Given the description of an element on the screen output the (x, y) to click on. 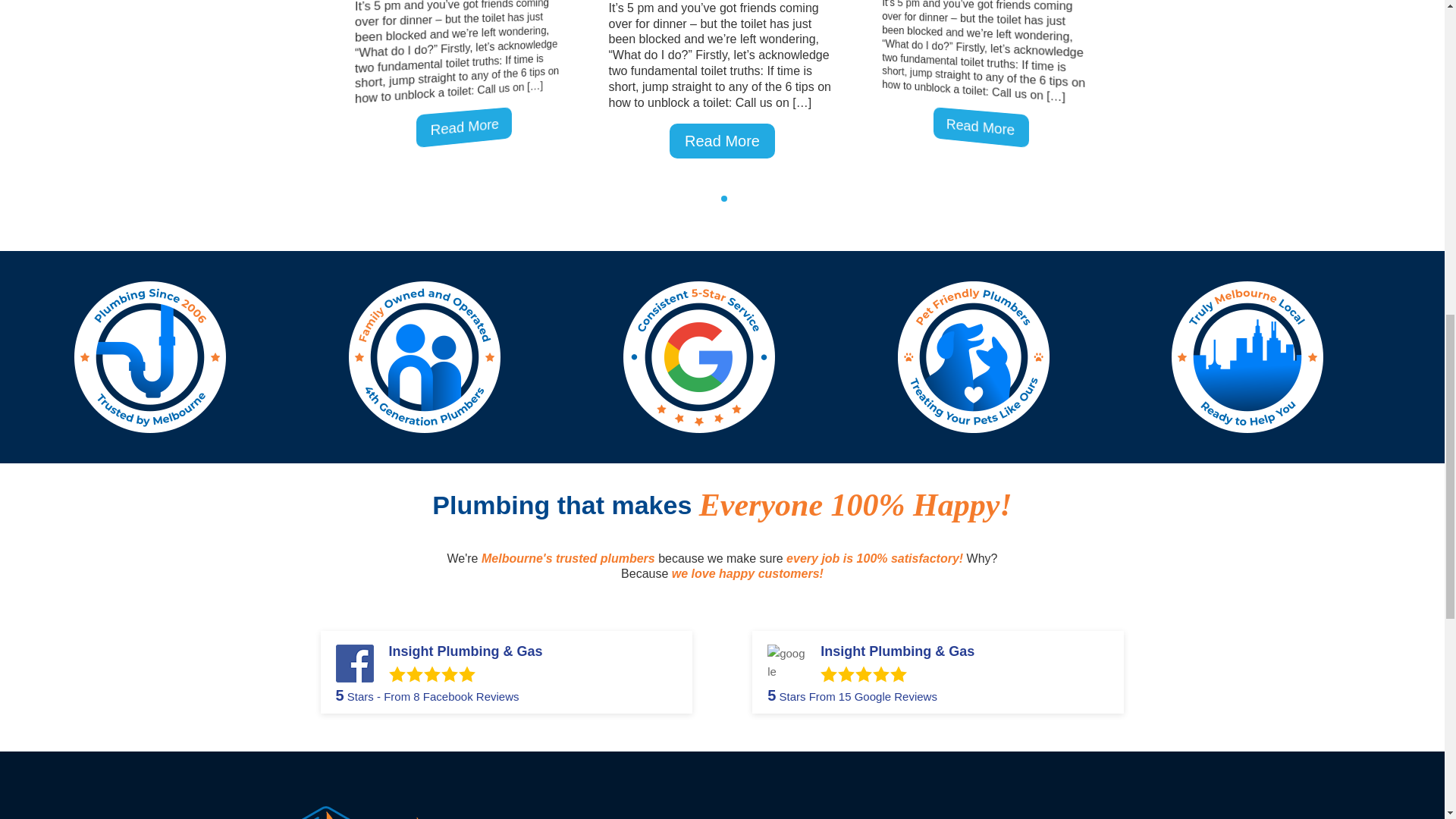
Read More (722, 140)
Read More (467, 125)
USP-Local-Plumbers-Melbourne (1247, 357)
USP-Pet-Friendly-Plumbers (973, 357)
USP-Family-Owned-Plumbers (424, 357)
Read More (985, 125)
USP-5-Star-Plumbers (698, 357)
USP-Plumbing-Since-2006 (149, 357)
Insight-Plumbing-And-Gas-Logo-sq (379, 786)
